Given the description of an element on the screen output the (x, y) to click on. 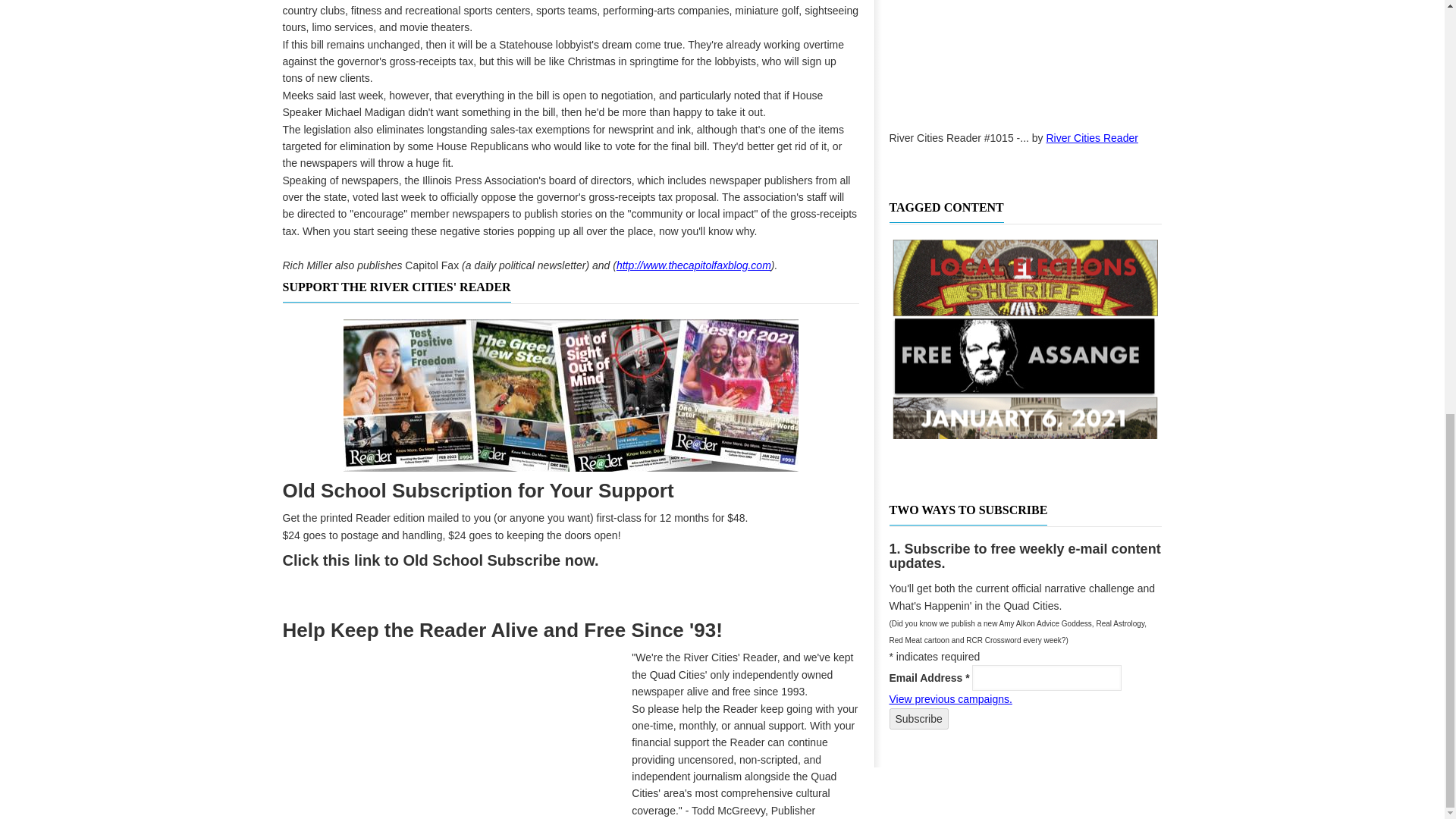
View previous campaigns (949, 698)
View River Cities Reader's profile on Scribd (1092, 137)
Subscribe (917, 718)
this link to Old School Subscribe now (458, 560)
